Given the description of an element on the screen output the (x, y) to click on. 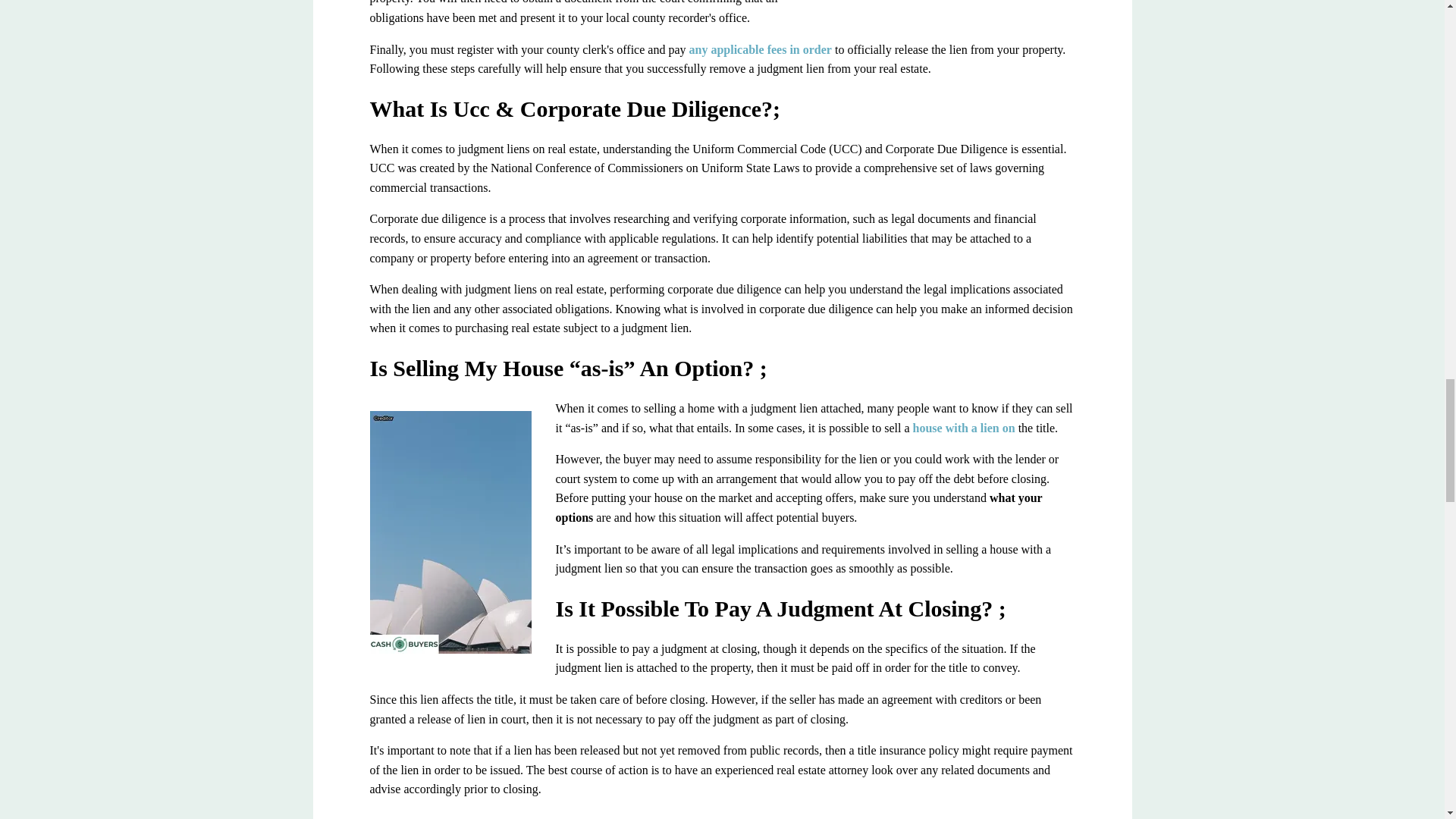
house with a lien on (963, 427)
any applicable fees in order (759, 49)
